Given the description of an element on the screen output the (x, y) to click on. 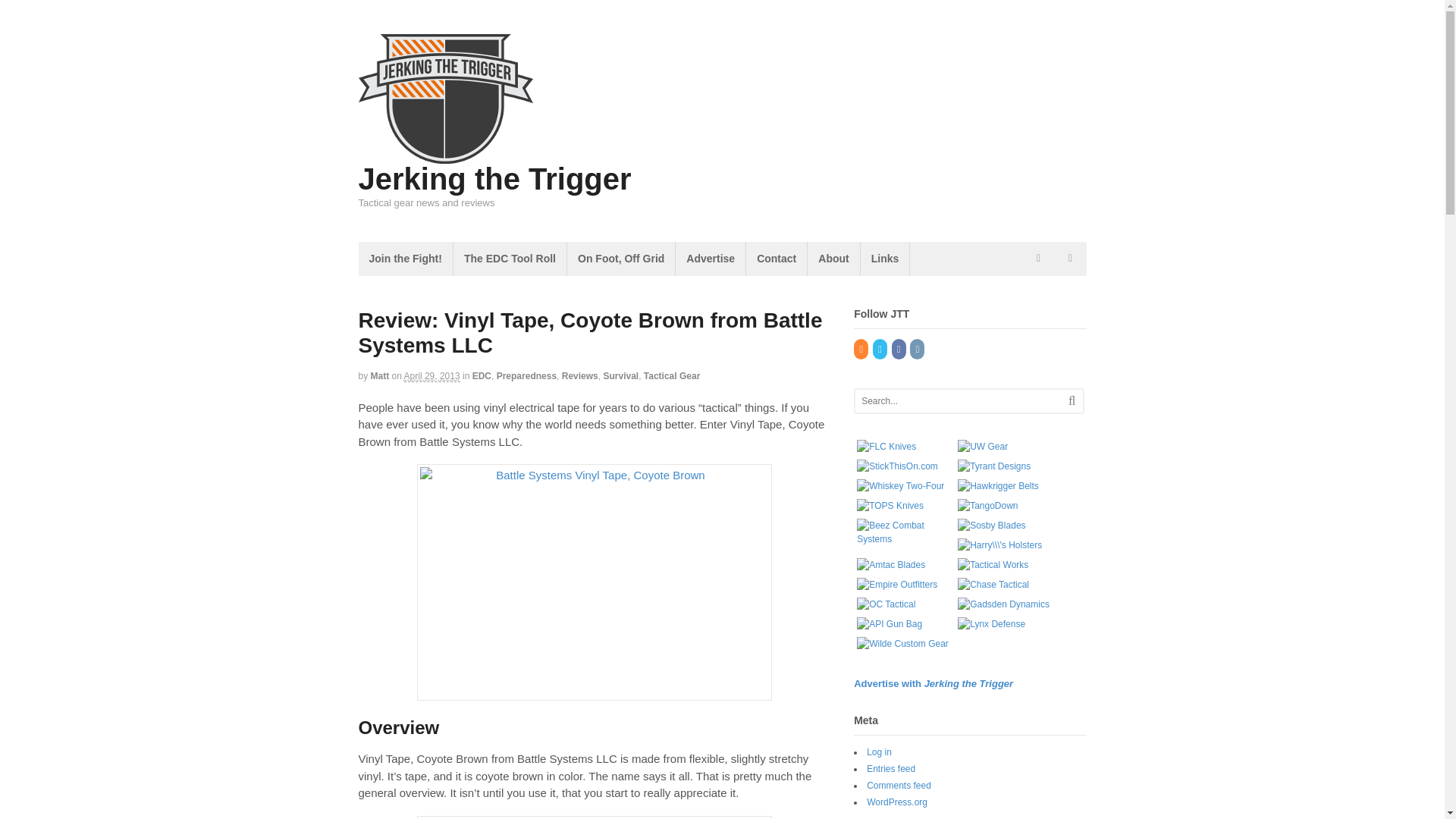
EDC (481, 376)
Survival (620, 376)
On Foot, Off Grid (621, 258)
View all items in Reviews (580, 376)
Preparedness (526, 376)
Contact (775, 258)
View all items in Preparedness (526, 376)
Tactical gear news and reviews (445, 155)
Reviews (580, 376)
Join the Fight! (404, 258)
